Given the description of an element on the screen output the (x, y) to click on. 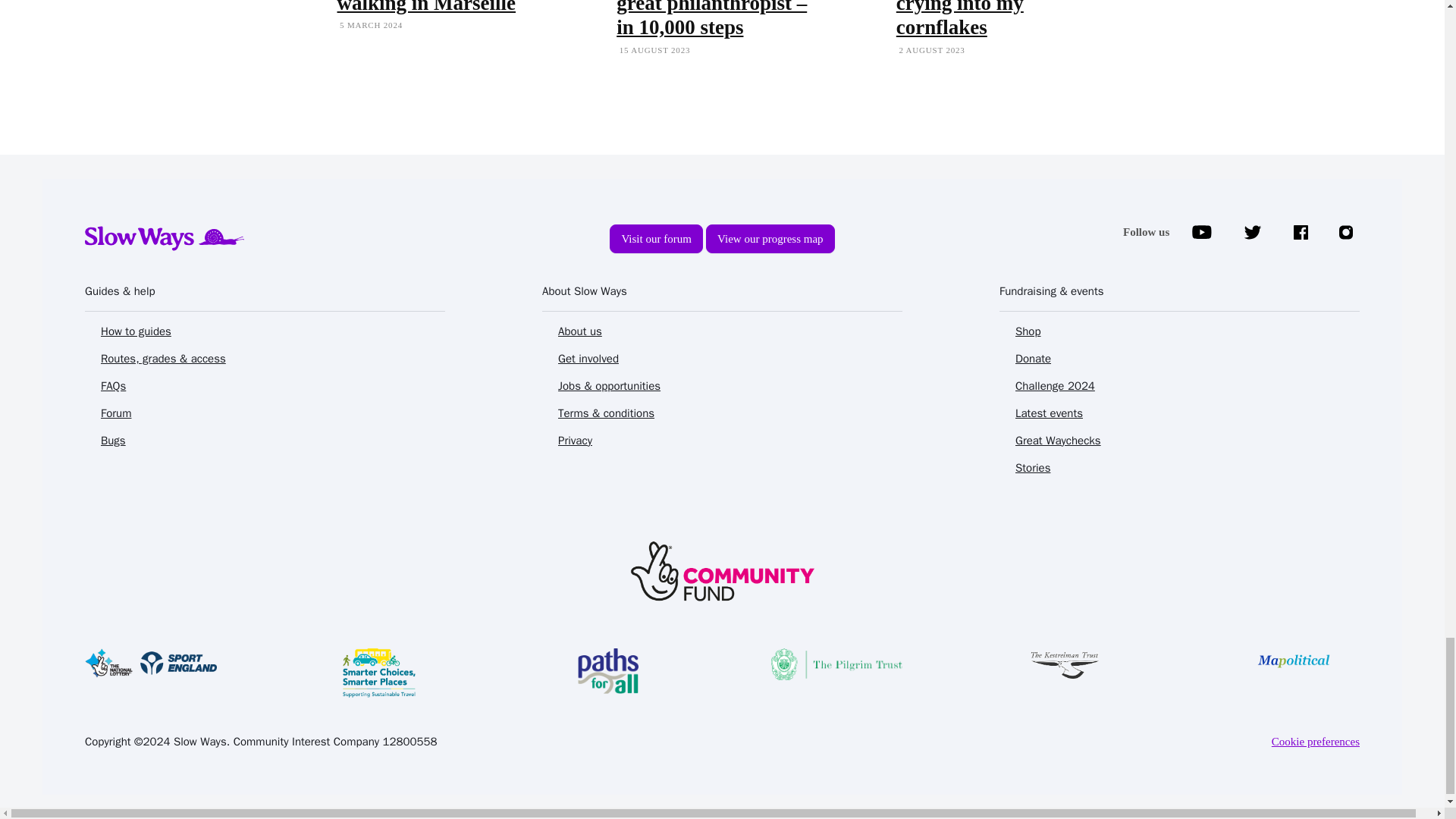
Walking and not-walking in Marseille (425, 6)
View our Facebook page (1300, 232)
View our Tweets (1252, 232)
Visit our forum (770, 238)
Visit our forum (655, 238)
View our YouTube channel (1201, 231)
Climate change and crying into my cornflakes (983, 19)
View our Instagram (1346, 232)
